Given the description of an element on the screen output the (x, y) to click on. 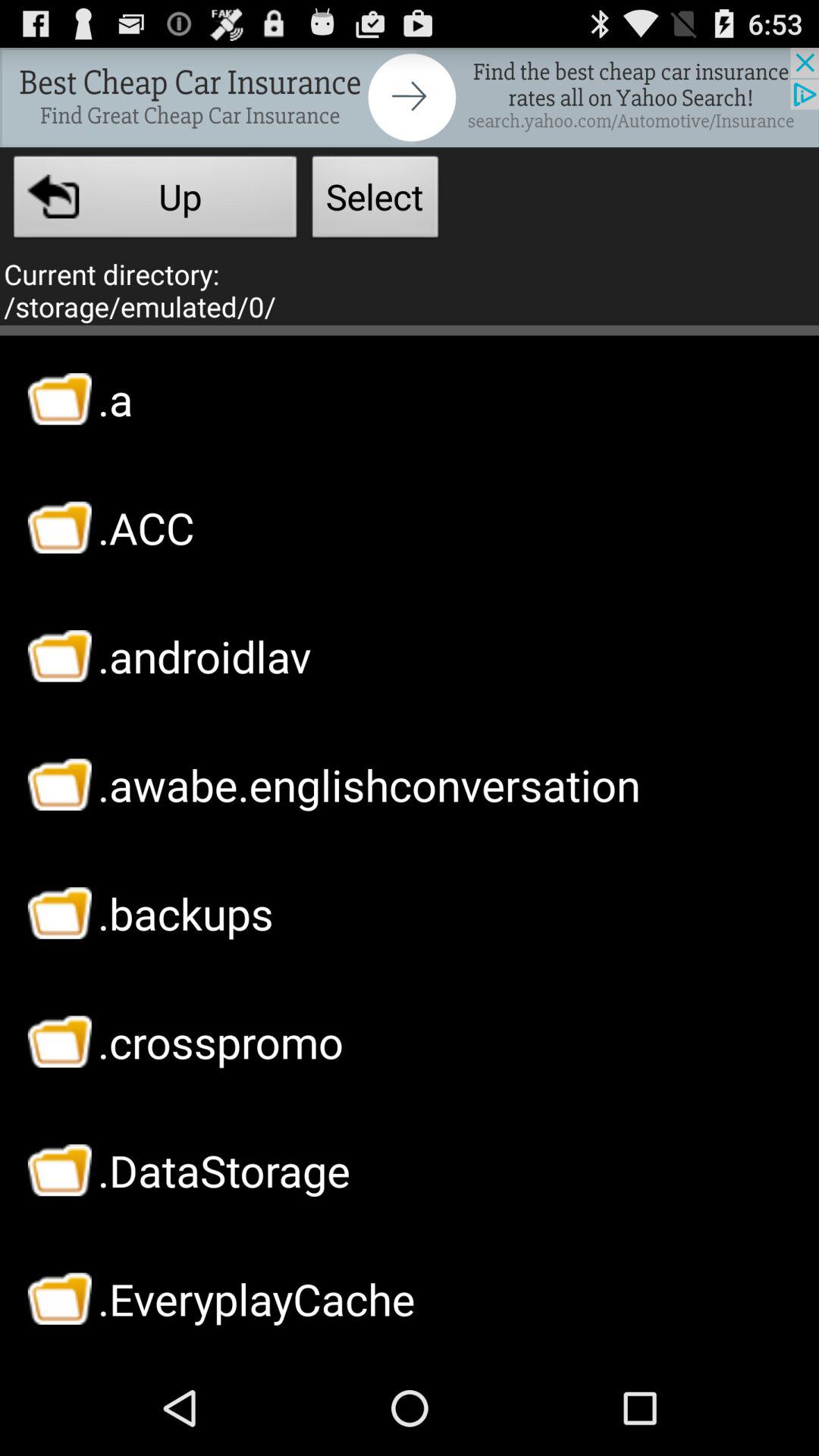
go to website (409, 97)
